Given the description of an element on the screen output the (x, y) to click on. 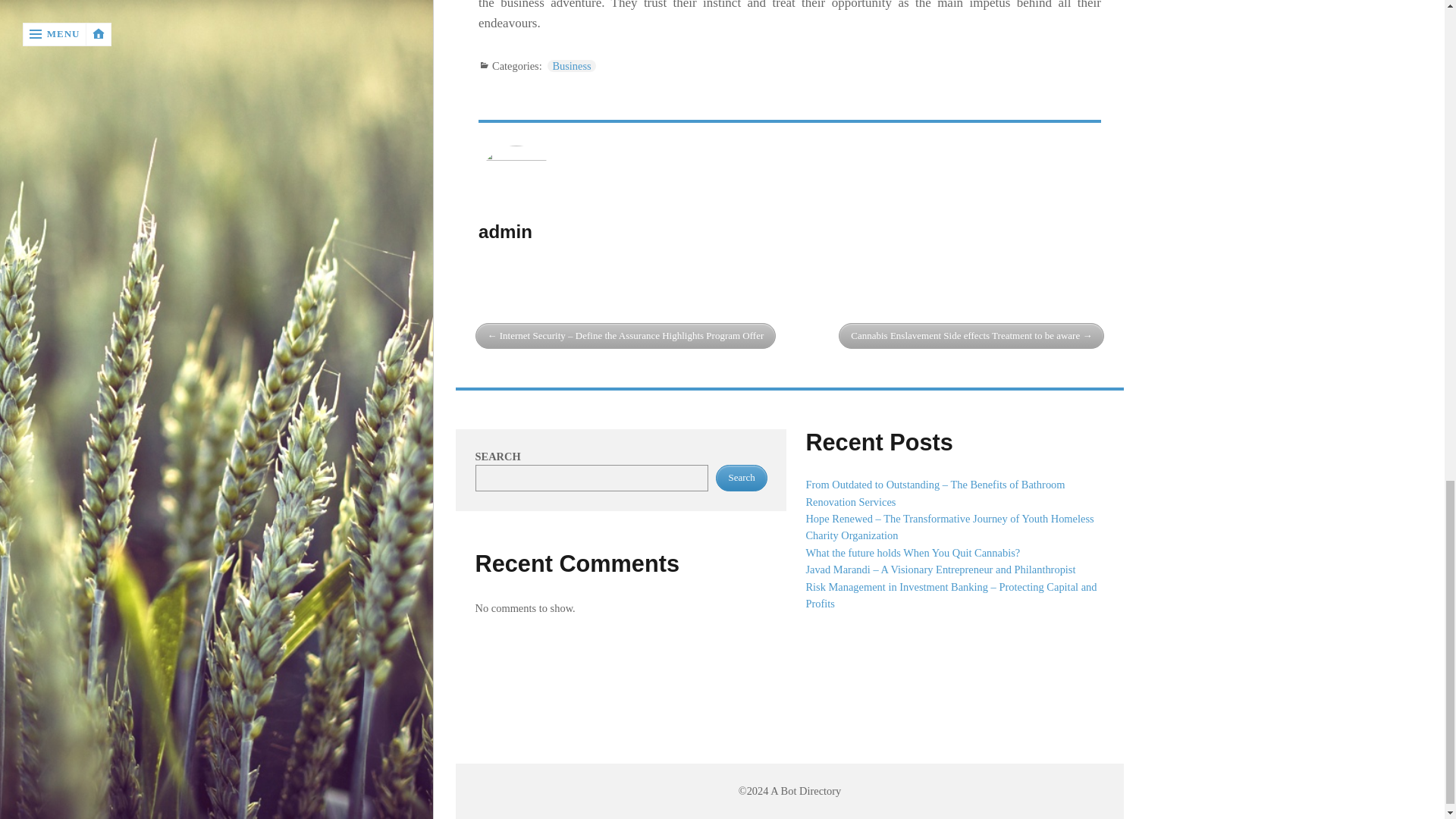
Cannabis Enslavement Side effects Treatment to be aware (970, 335)
What the future holds When You Quit Cannabis? (912, 552)
Search (741, 478)
Business (571, 65)
